Given the description of an element on the screen output the (x, y) to click on. 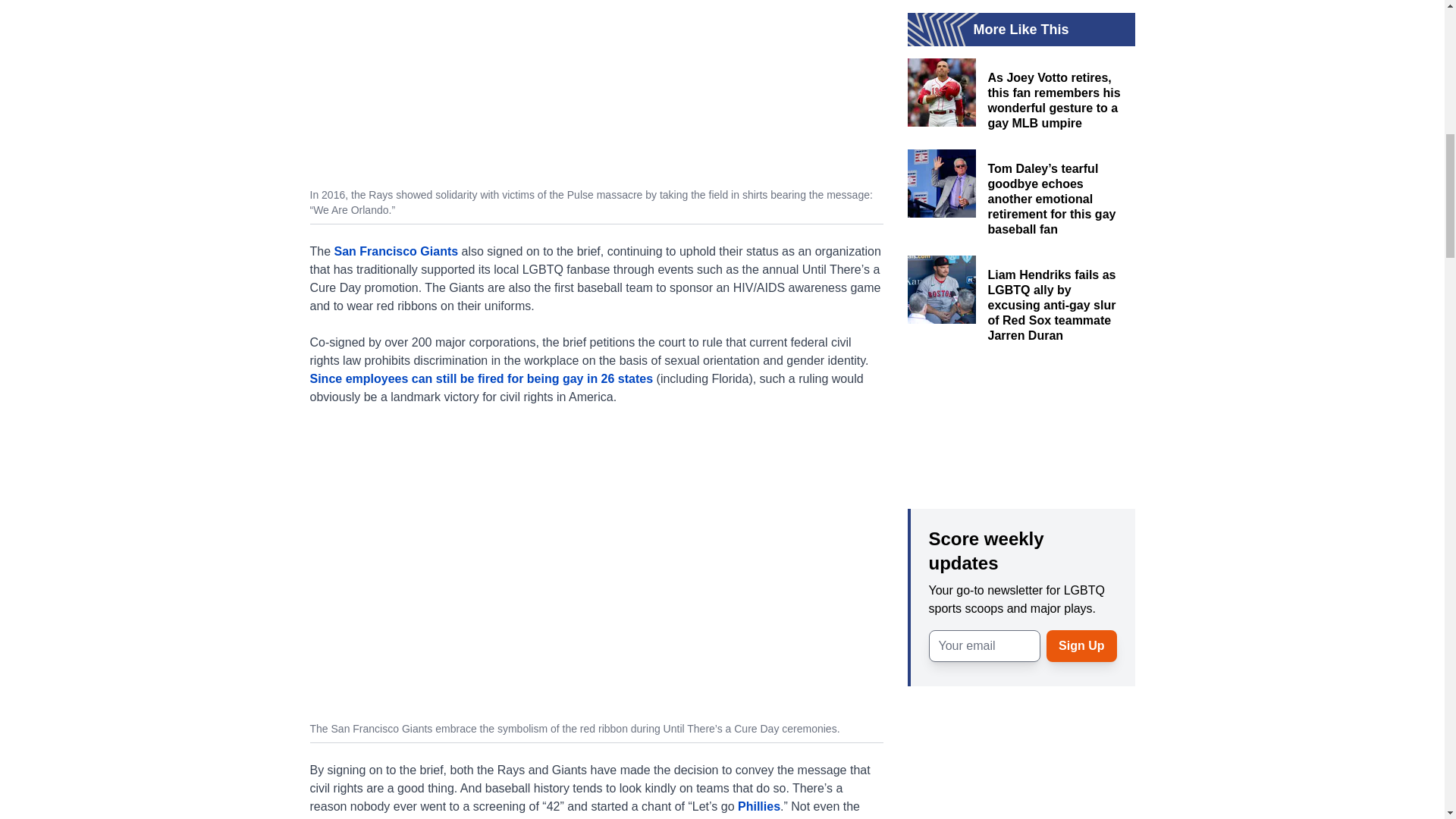
Phillies (759, 806)
San Francisco Giants (396, 250)
